Given the description of an element on the screen output the (x, y) to click on. 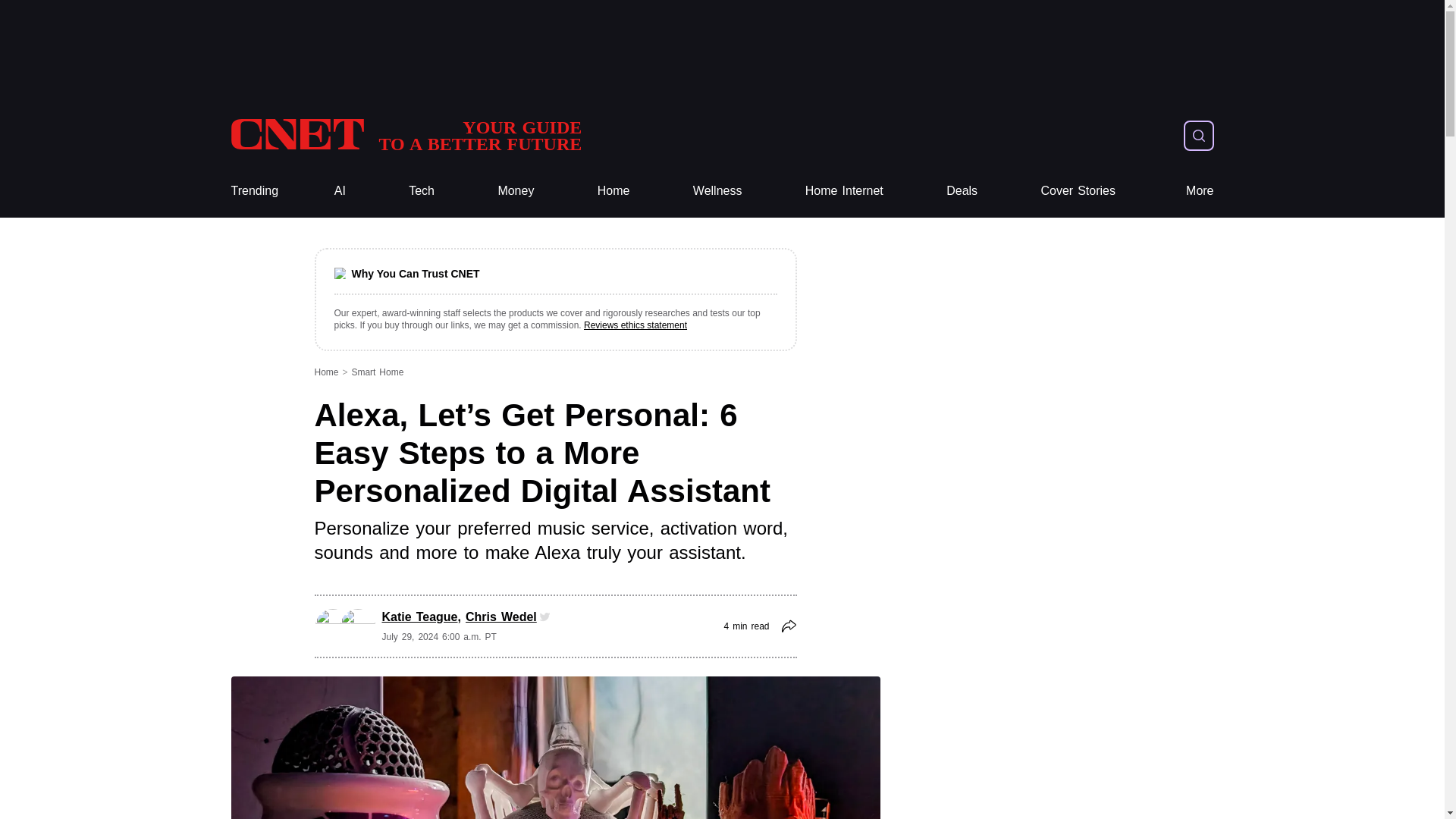
Trending (254, 190)
Home (613, 190)
Deals (961, 190)
Home Internet (844, 190)
Money (515, 190)
Wellness (717, 190)
Tech (421, 190)
Wellness (405, 135)
More (717, 190)
